Given the description of an element on the screen output the (x, y) to click on. 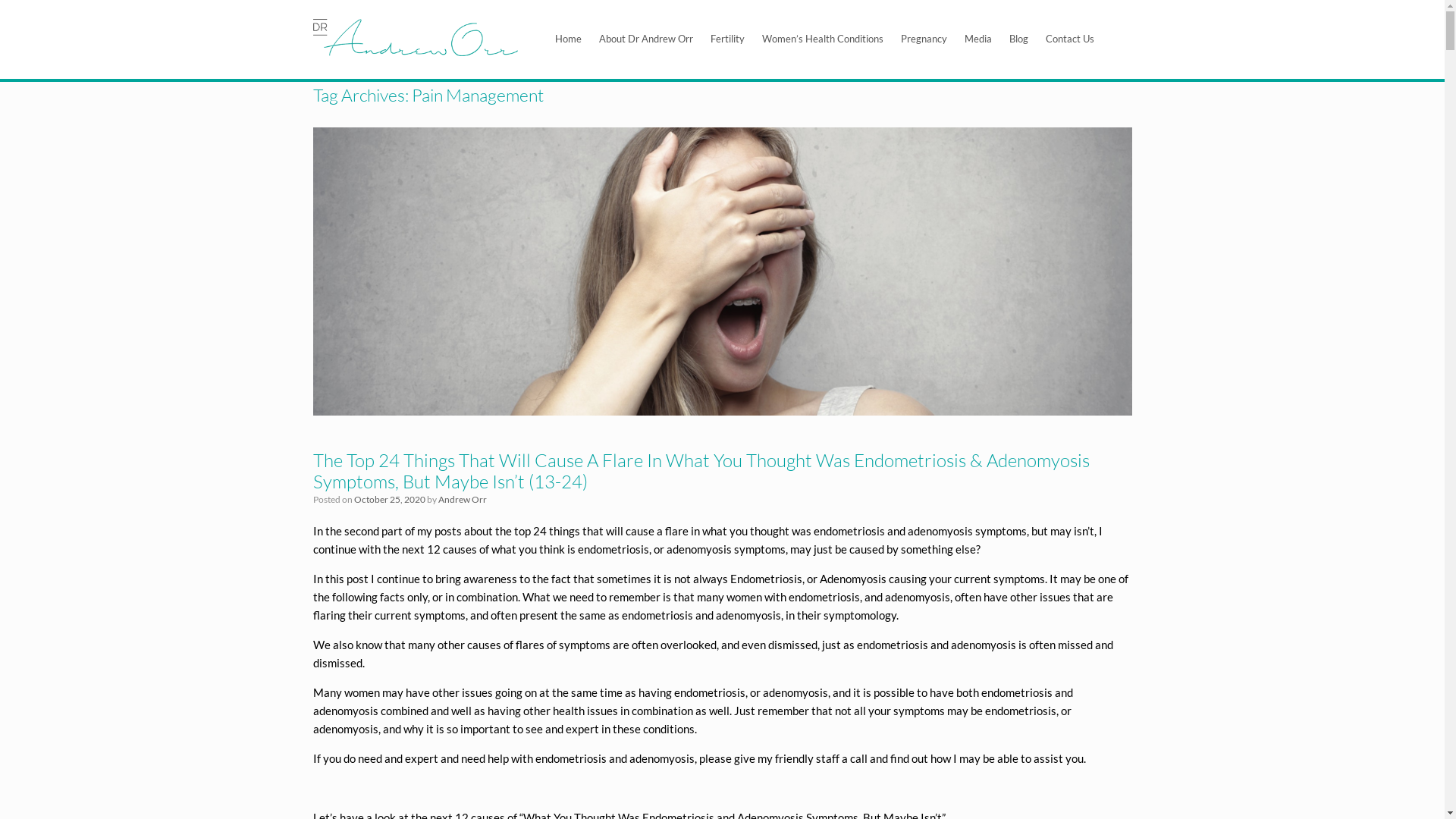
Dr Andrew Orr Fertility Program Logo Transparent Blue Element type: hover (414, 37)
About Dr Andrew Orr Element type: text (646, 38)
Andrew Orr Element type: text (462, 499)
Blog Element type: text (1018, 38)
October 25, 2020 Element type: text (388, 499)
Fertility Element type: text (727, 38)
Media Element type: text (977, 38)
Home Element type: text (568, 38)
Contact Us Element type: text (1069, 38)
Pregnancy Element type: text (923, 38)
